Given the description of an element on the screen output the (x, y) to click on. 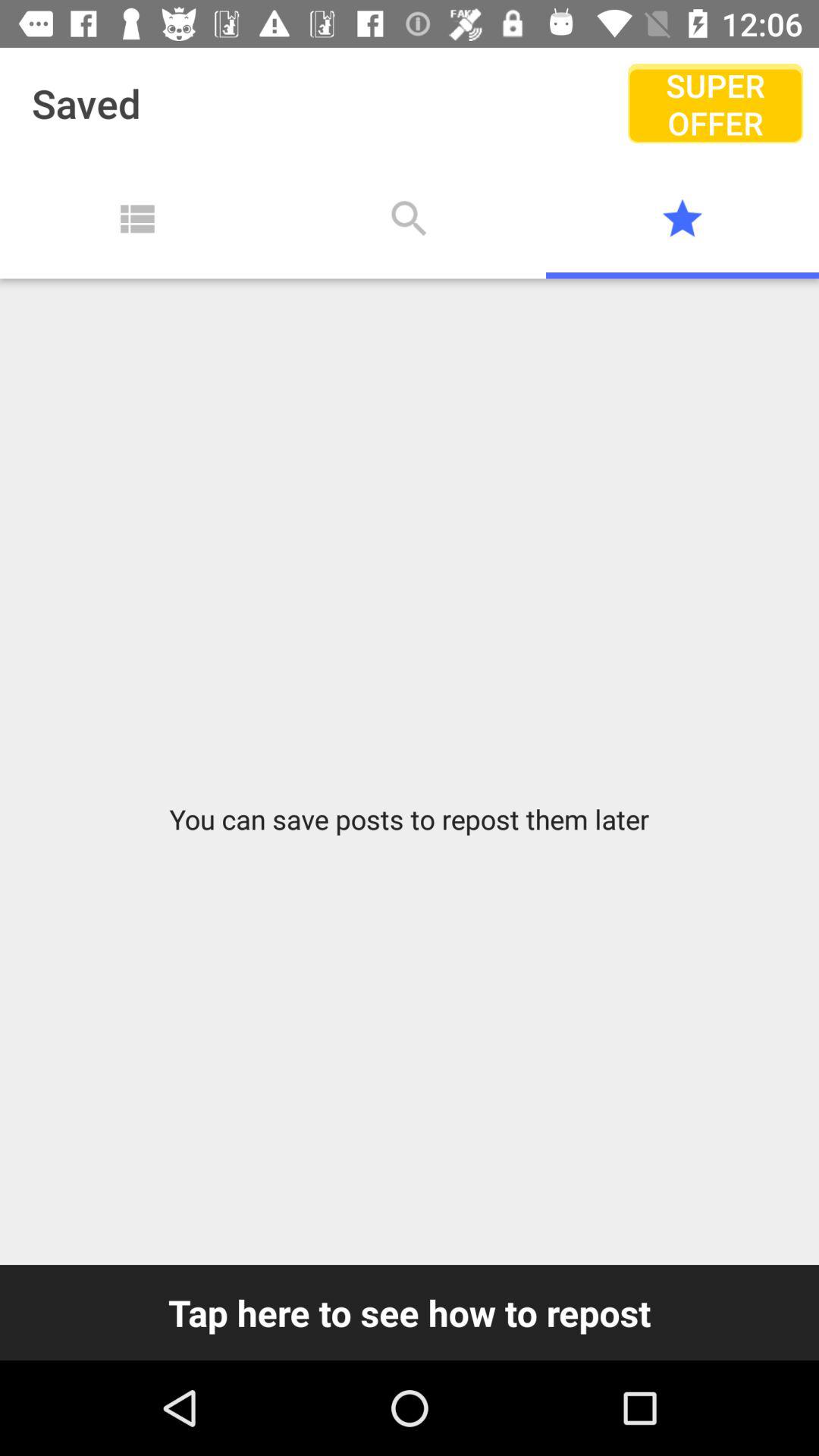
flip until tap here to app (409, 1312)
